Given the description of an element on the screen output the (x, y) to click on. 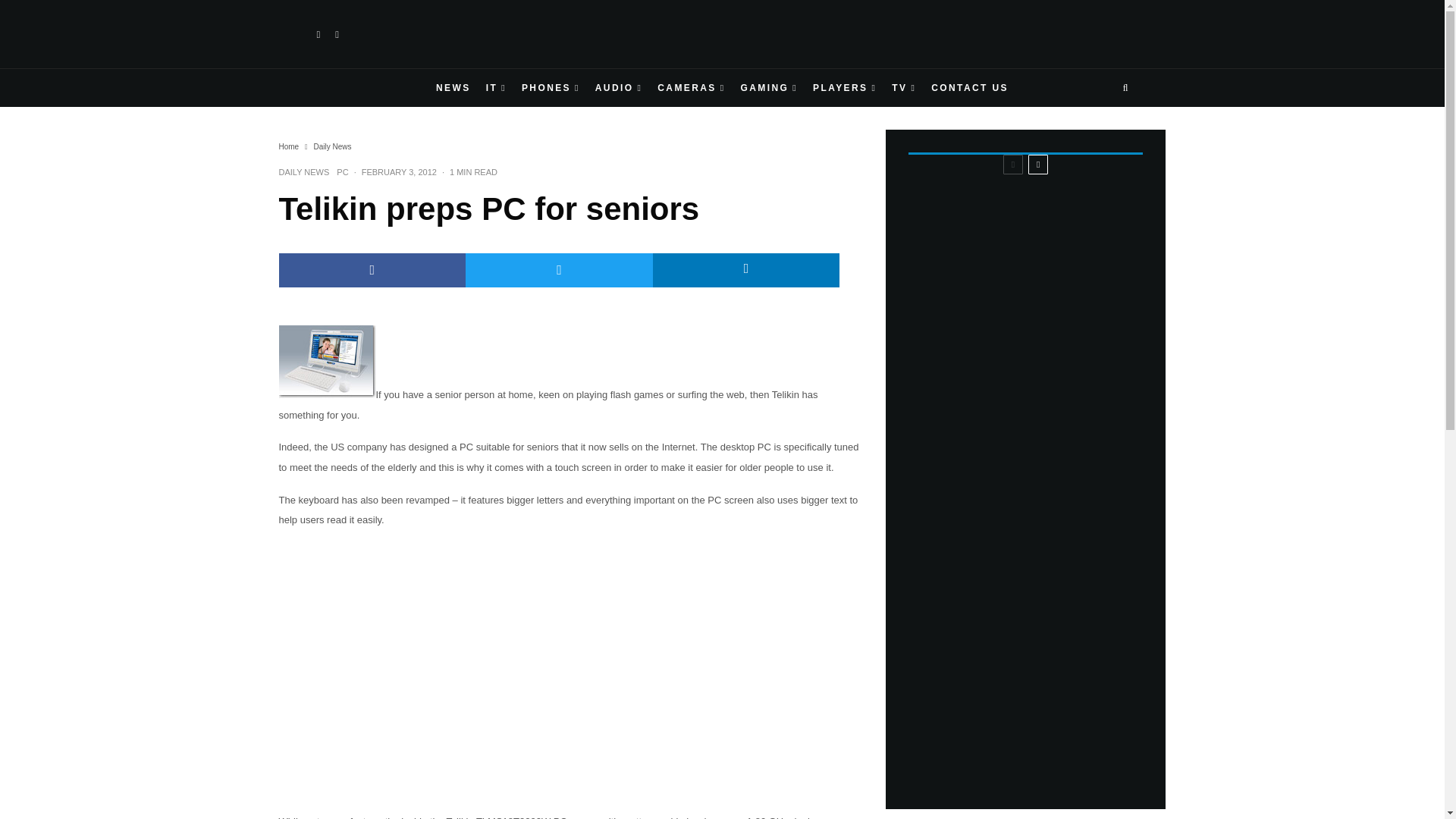
PHONES (550, 87)
NEWS (453, 87)
IT (496, 87)
